Given the description of an element on the screen output the (x, y) to click on. 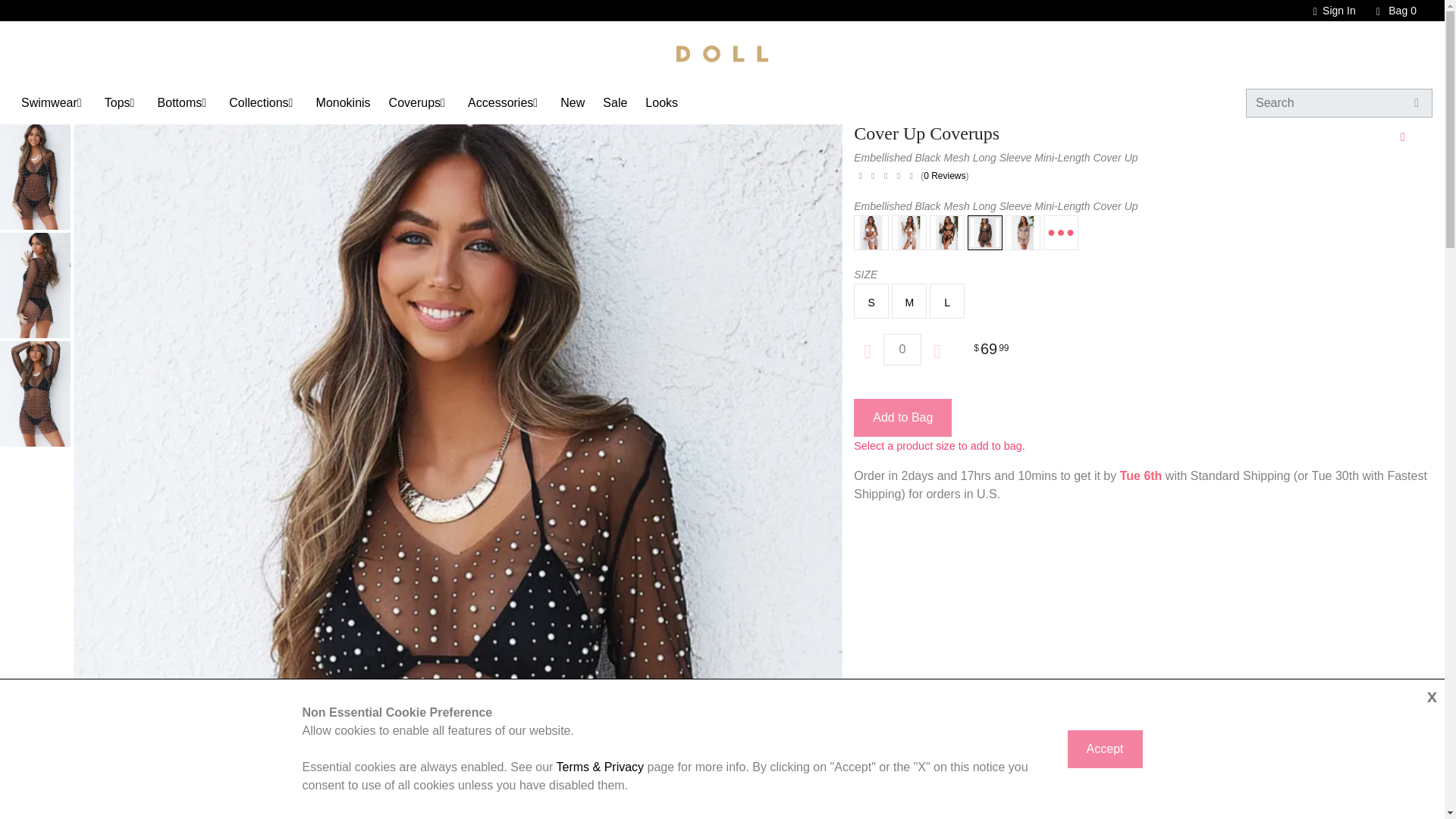
Accept (1104, 749)
Bottoms (179, 102)
Sign In (1326, 10)
Bag0 (1388, 10)
Collections (258, 102)
Tops (117, 102)
Swimwear (48, 102)
0 (902, 349)
